Given the description of an element on the screen output the (x, y) to click on. 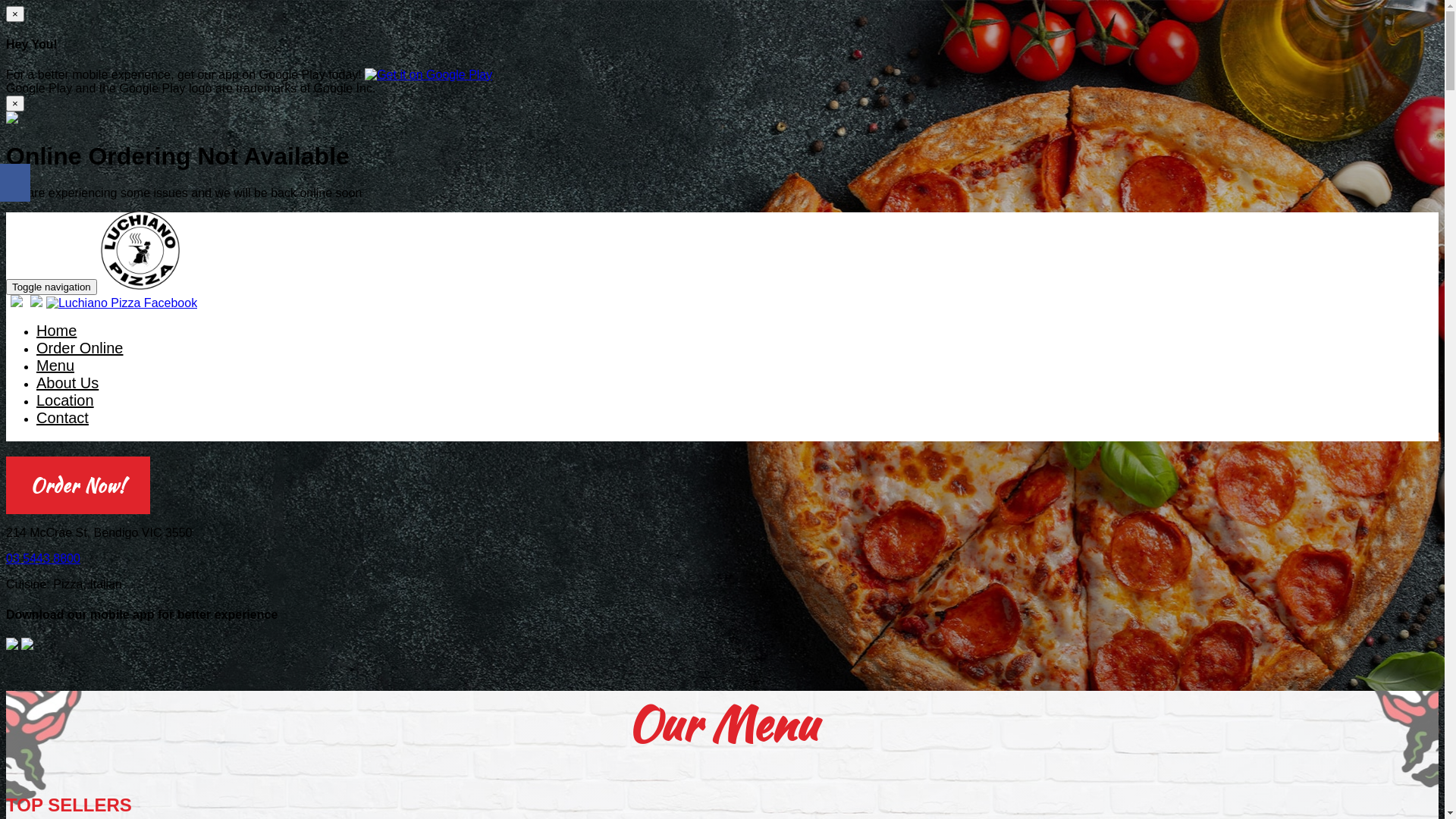
Share on Facebook Element type: hover (15, 182)
Contact Element type: text (62, 418)
Toggle navigation Element type: text (51, 286)
Location Element type: text (65, 401)
Menu Element type: text (55, 366)
About Us Element type: text (67, 383)
Order Now! Element type: text (78, 485)
Home Element type: text (56, 331)
03 5443 8800 Element type: text (43, 558)
Order Now! Element type: text (78, 487)
Order Online Element type: text (79, 348)
